Given the description of an element on the screen output the (x, y) to click on. 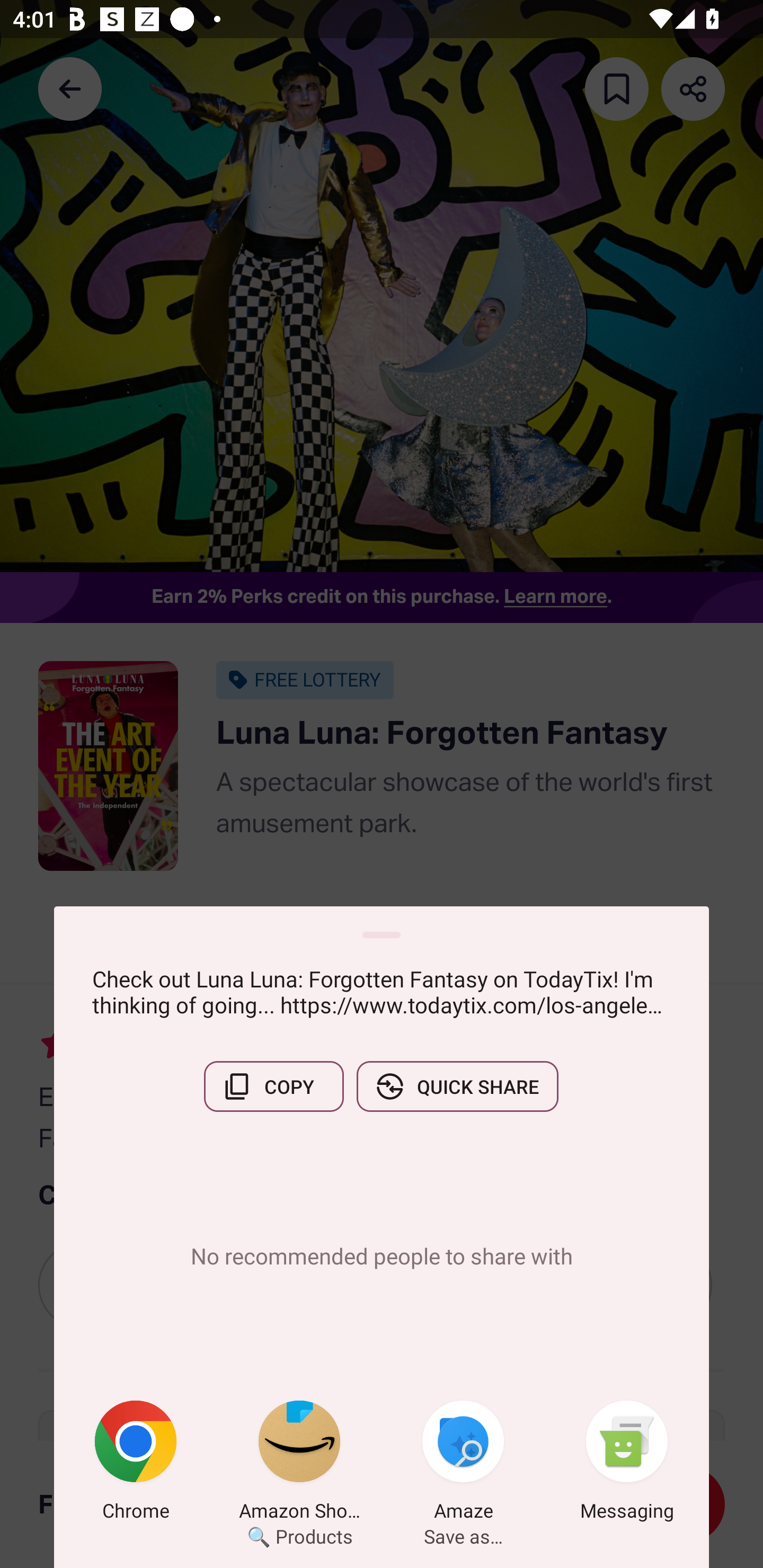
COPY (273, 1086)
QUICK SHARE (457, 1086)
Chrome (135, 1463)
Amazon Shopping 🔍 Products (299, 1463)
Amaze Save as… (463, 1463)
Messaging (626, 1463)
